Given the description of an element on the screen output the (x, y) to click on. 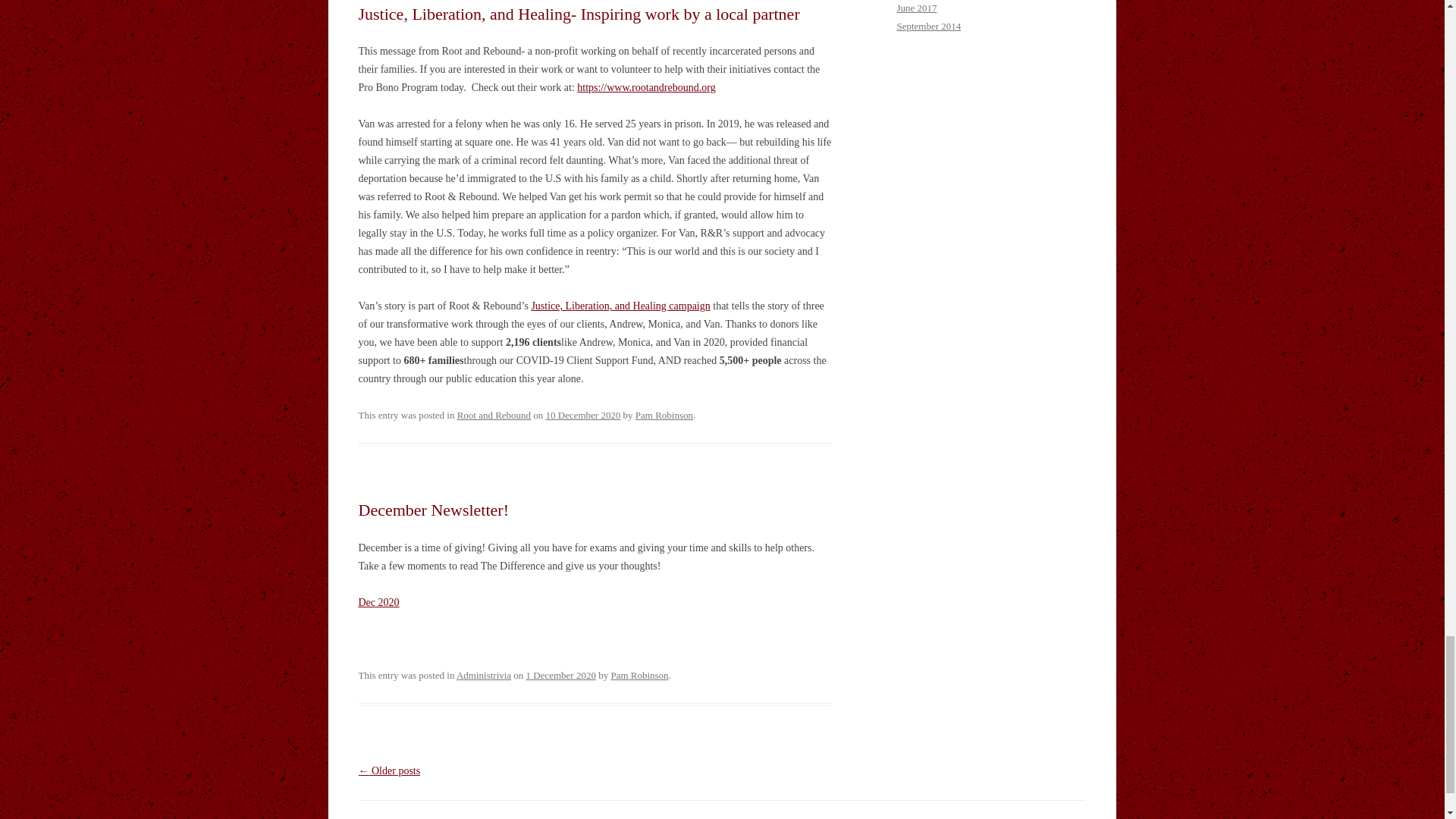
View all posts by Pam Robinson (663, 414)
View all posts by Pam Robinson (639, 674)
9:30 AM (583, 414)
9:41 AM (560, 674)
